Given the description of an element on the screen output the (x, y) to click on. 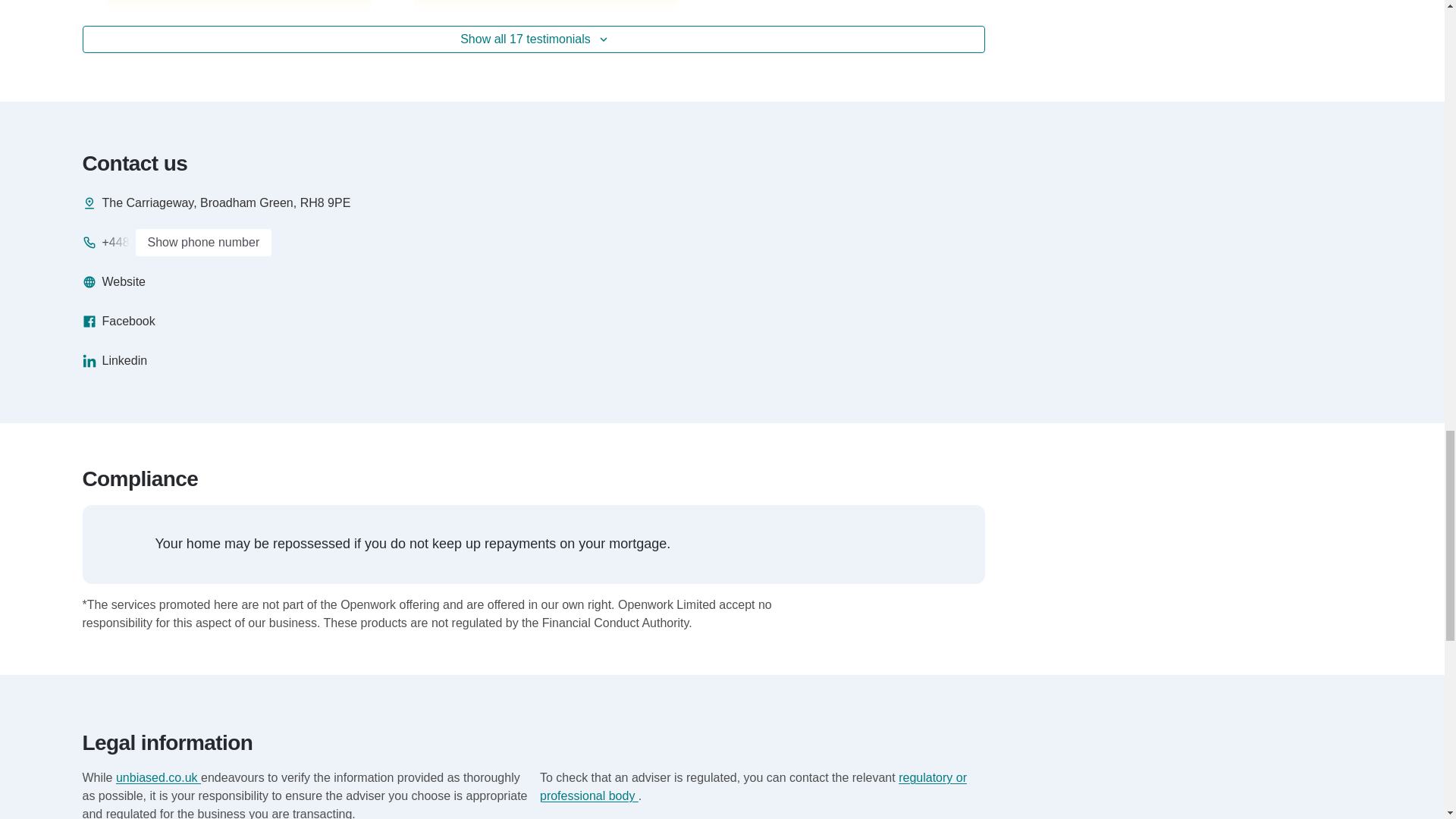
The Carriageway, Broadham Green, RH8 9PE (215, 203)
regulatory or professional body (753, 786)
unbiased.co.uk (158, 777)
Linkedin (114, 361)
Show all 17 testimonials (533, 39)
Facebook (117, 321)
Website (113, 281)
Show phone number (203, 242)
